Given the description of an element on the screen output the (x, y) to click on. 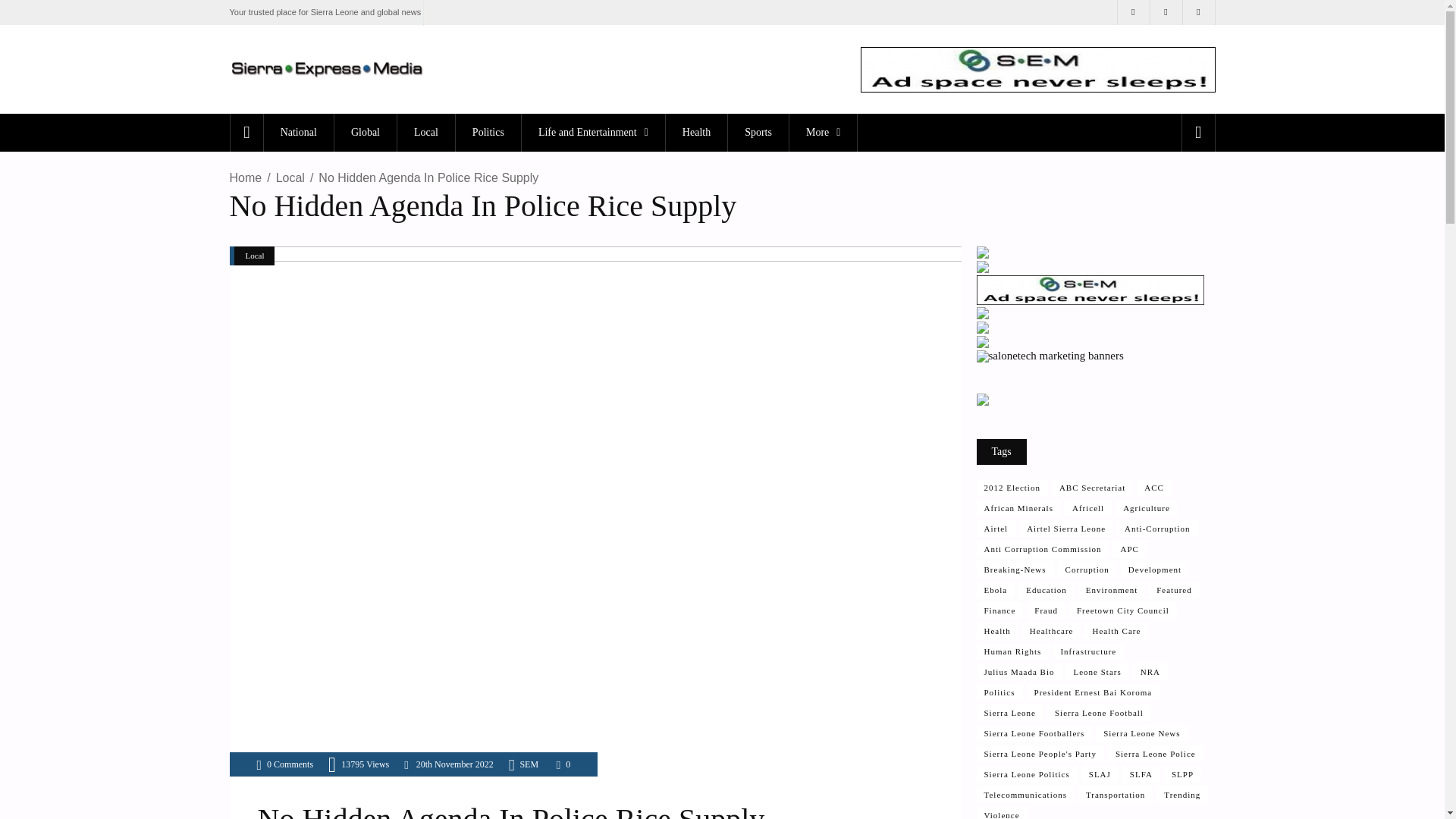
Internet Programming Solutions - A SaloneTech Company (982, 268)
Global (364, 132)
Life and Entertainment (593, 132)
Local (425, 132)
Politics (487, 132)
National (298, 132)
